Given the description of an element on the screen output the (x, y) to click on. 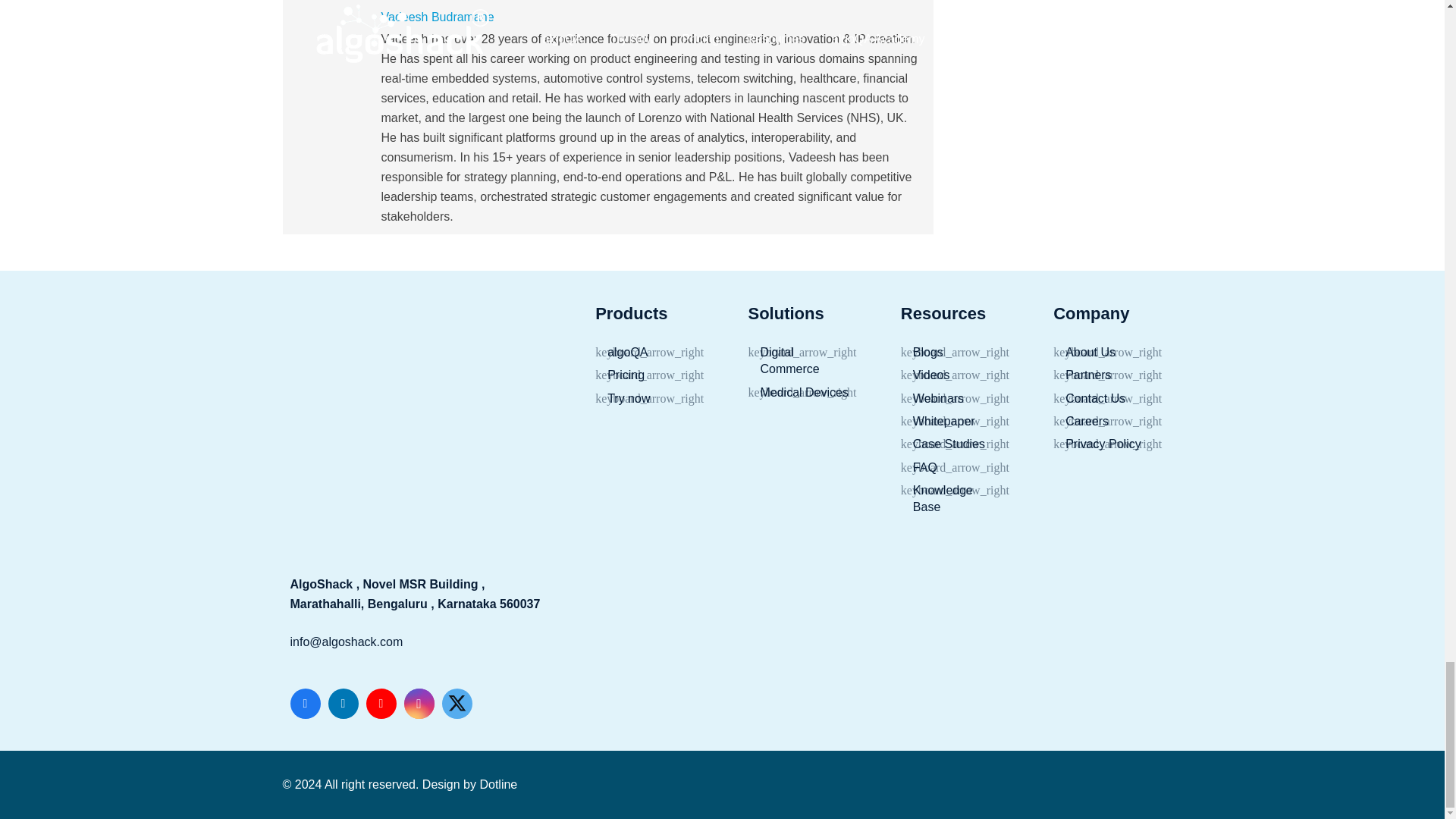
LinkedIn (342, 703)
Facebook (304, 703)
